Given the description of an element on the screen output the (x, y) to click on. 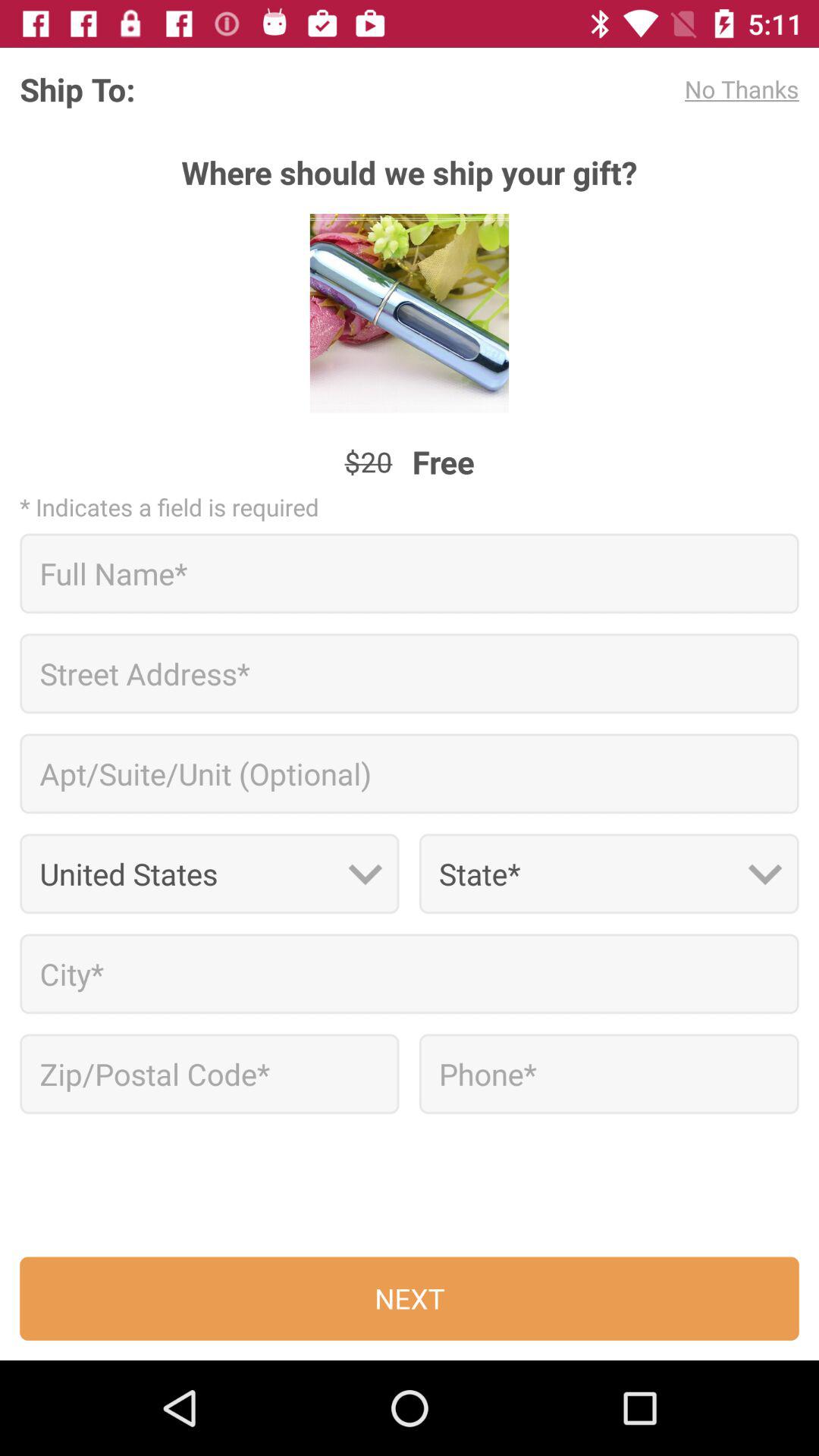
enter you full name (409, 573)
